Given the description of an element on the screen output the (x, y) to click on. 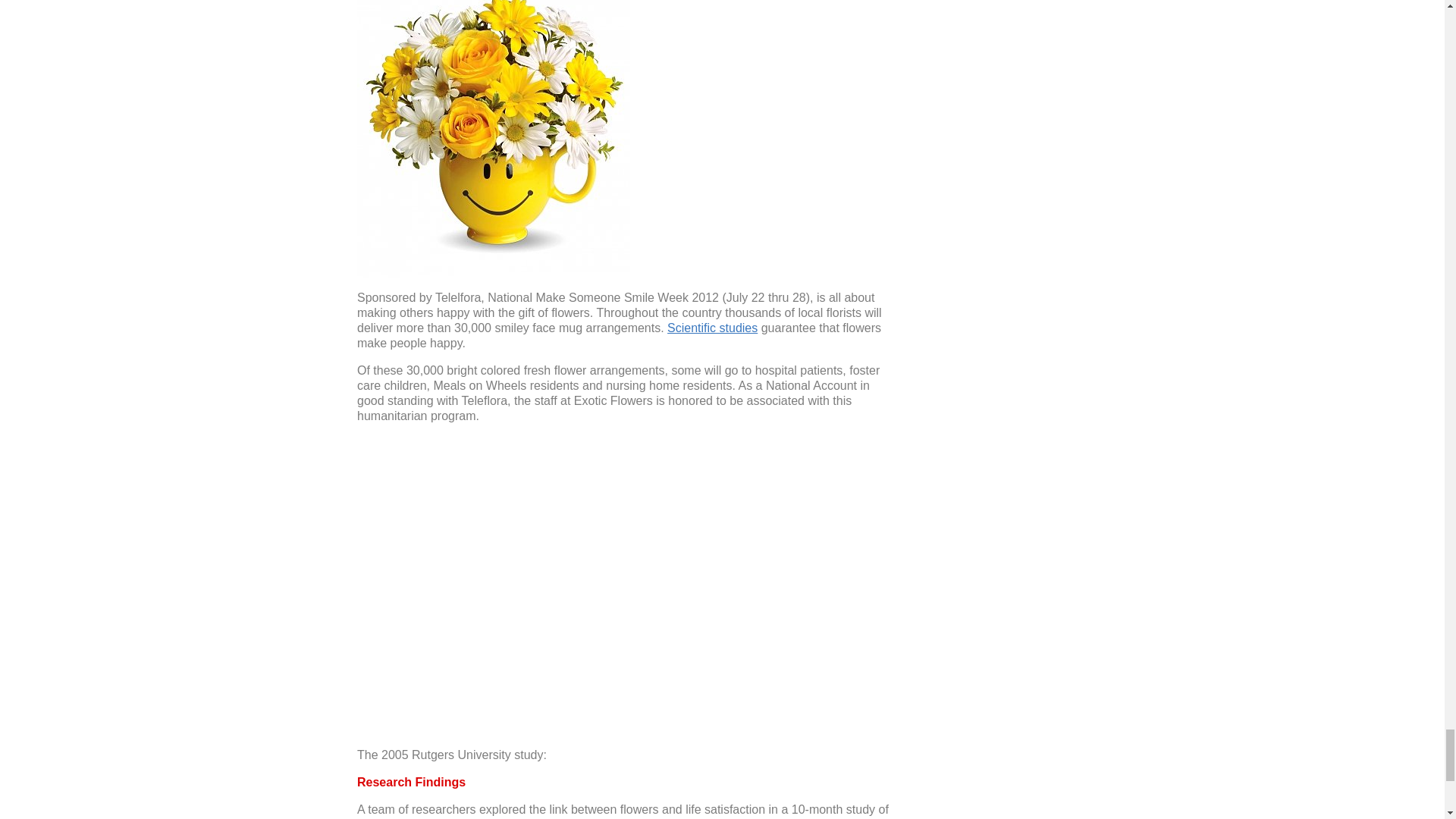
Scientific studies (711, 327)
